Given the description of an element on the screen output the (x, y) to click on. 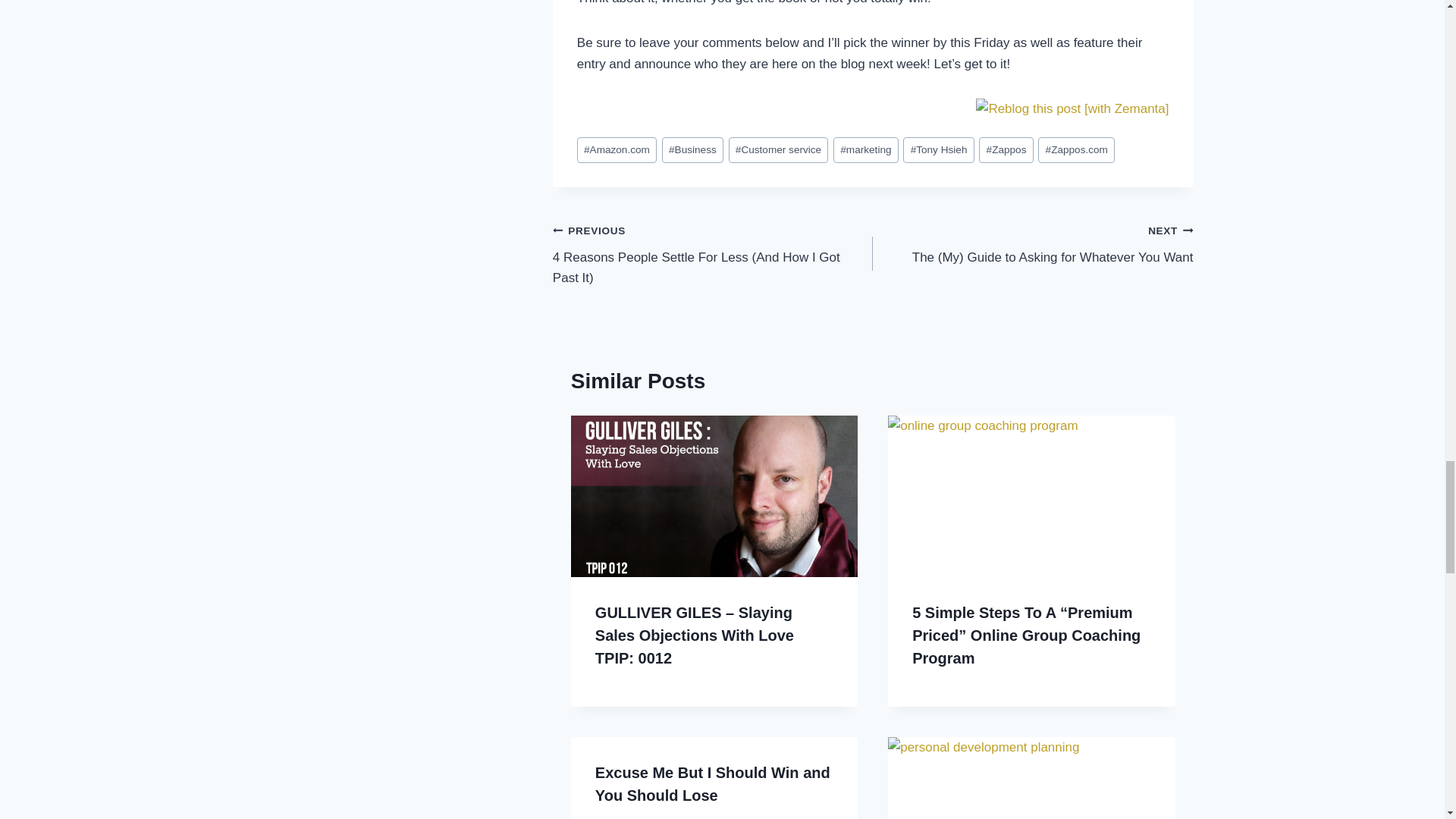
Business (692, 150)
Customer service (778, 150)
Amazon.com (616, 150)
marketing (865, 150)
Tony Hsieh (938, 150)
Excuse Me But I Should Win and You Should Lose (712, 783)
Zappos (1005, 150)
Zappos.com (1076, 150)
